Given the description of an element on the screen output the (x, y) to click on. 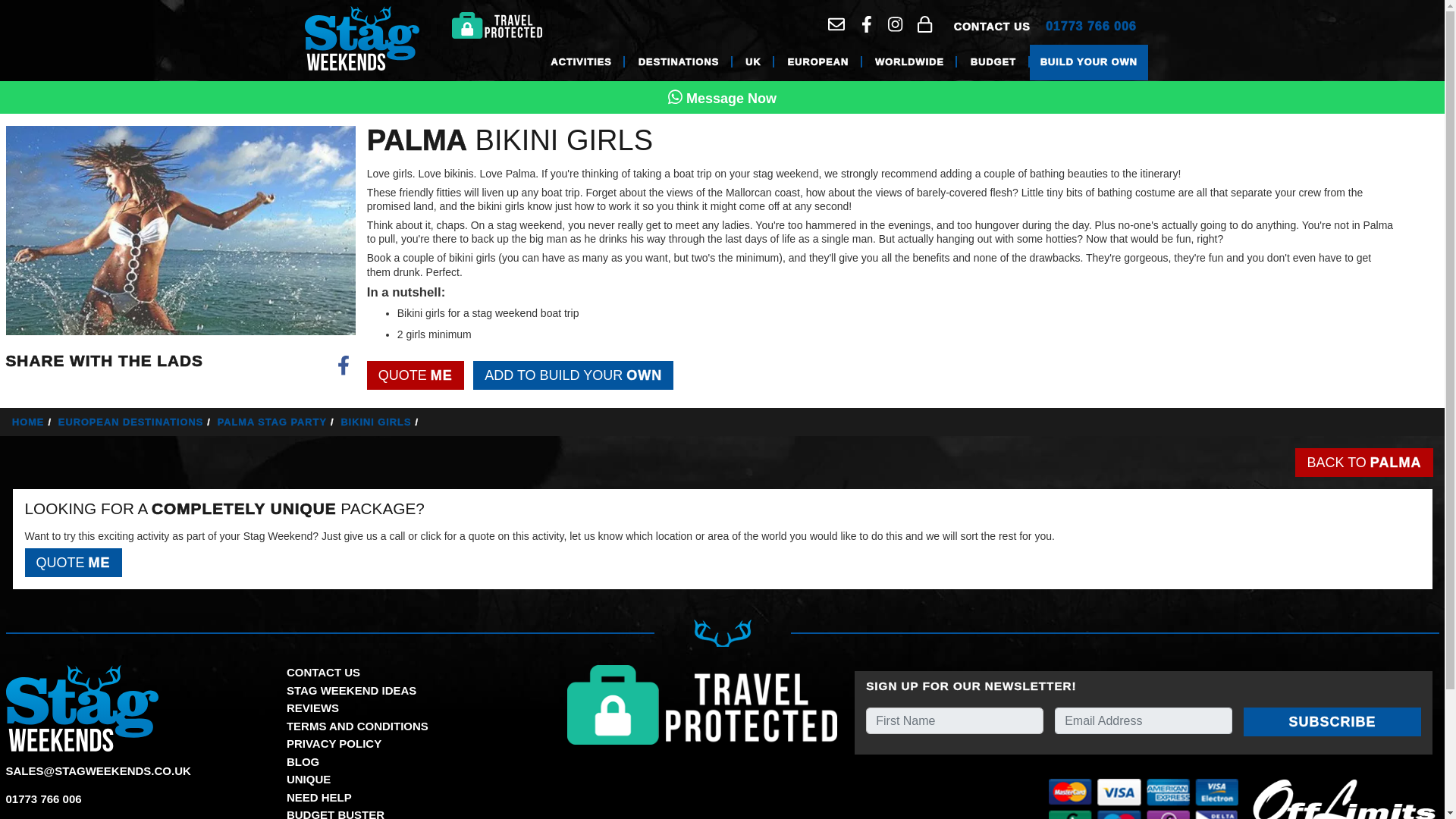
TERMS AND CONDITIONS (357, 725)
BACK TO PALMA (1363, 461)
EUROPEAN DESTINATIONS (136, 421)
HOME (33, 421)
SUBSCRIBE (1332, 721)
DESTINATIONS (678, 62)
BLOG (302, 761)
CONTACT US (991, 26)
REVIEWS (312, 707)
BIKINI GIRLS (381, 421)
